Given the description of an element on the screen output the (x, y) to click on. 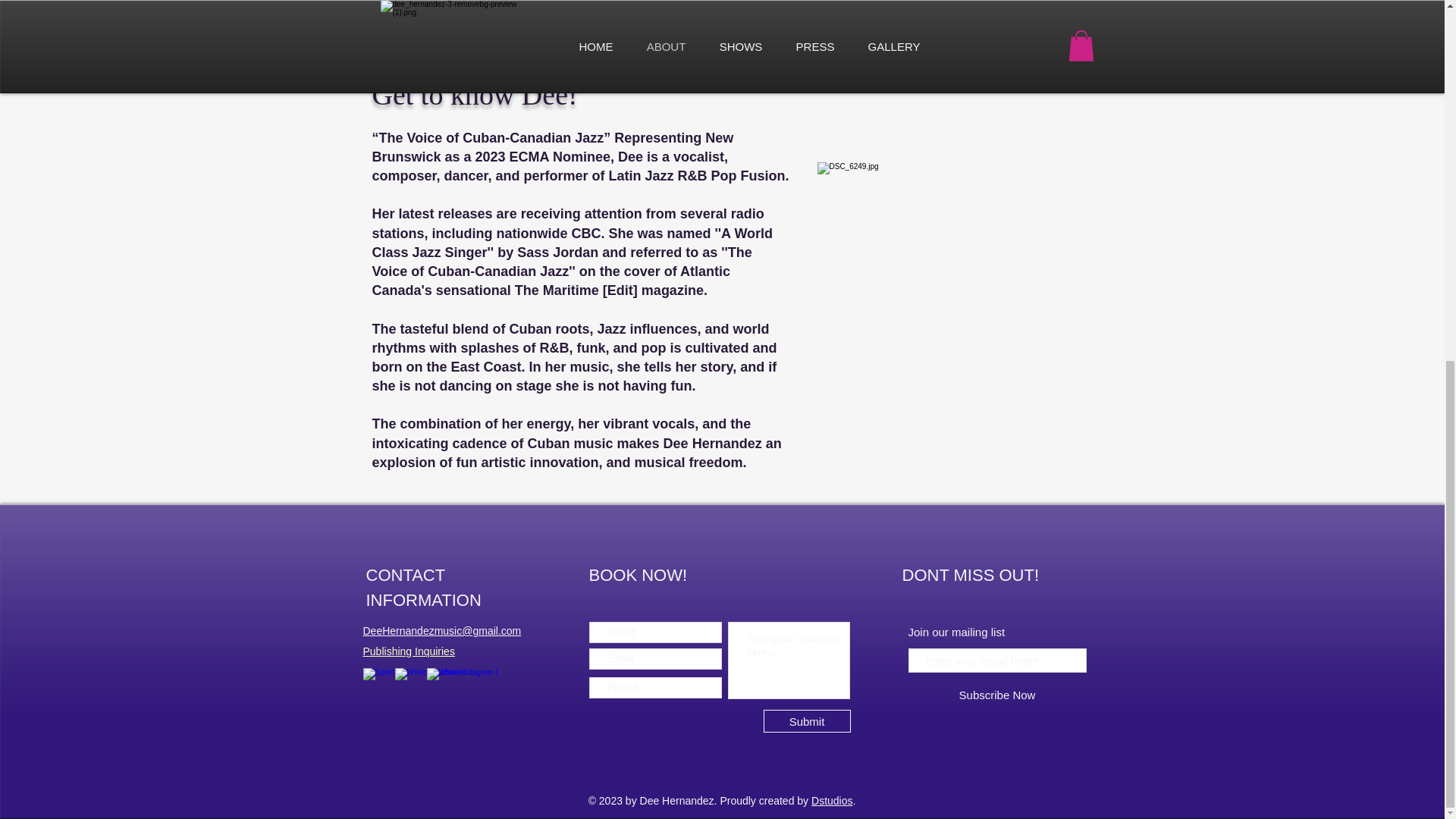
Submit (806, 721)
Publishing Inquiries (408, 651)
Subscribe Now (997, 694)
Dstudios (830, 800)
